Given the description of an element on the screen output the (x, y) to click on. 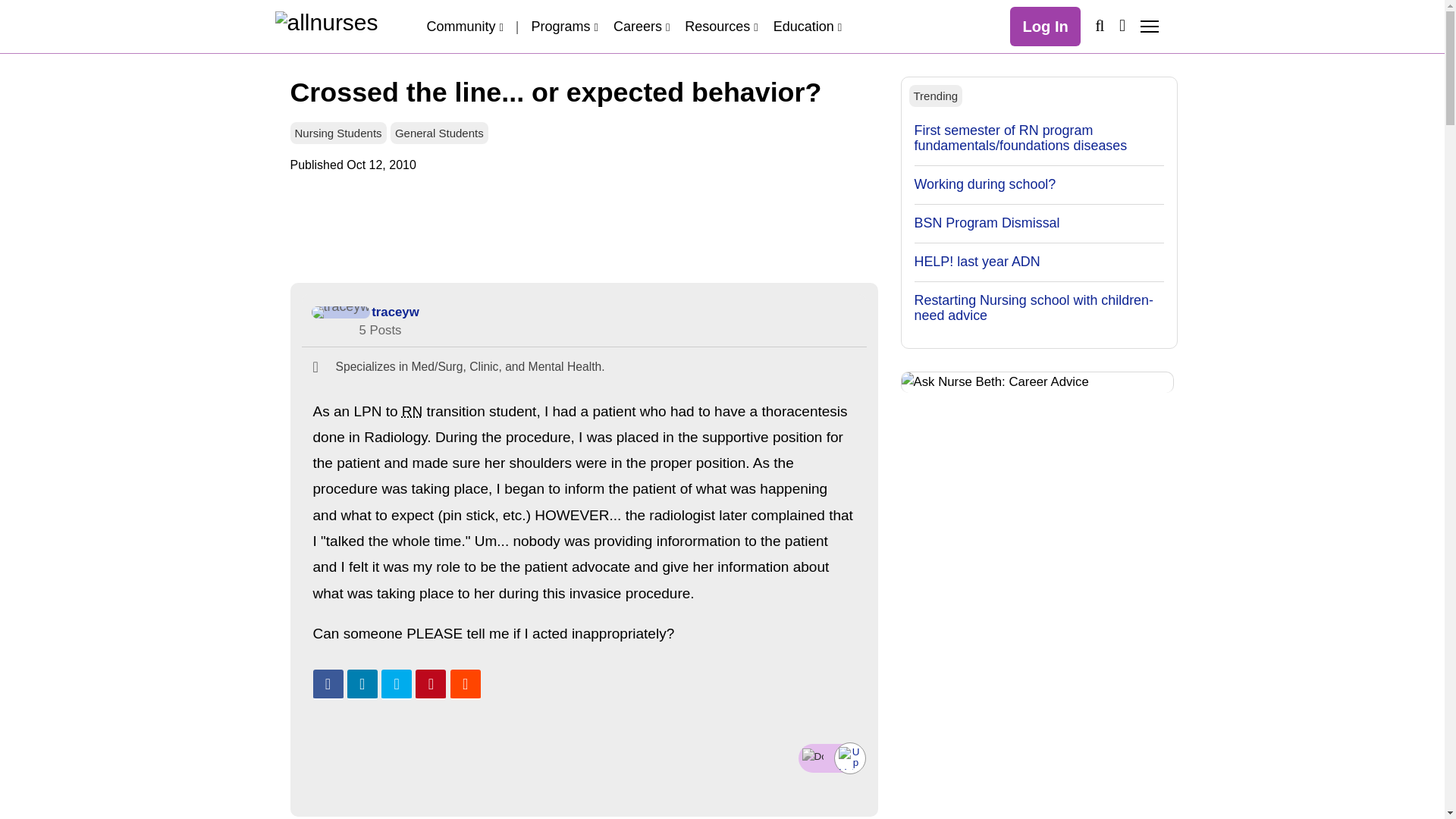
Programs (564, 26)
Share on Twitter (396, 684)
Community (465, 26)
Up Vote (849, 757)
Down Vote (813, 756)
Registered Nurse (411, 411)
Go to traceyw's profile (340, 312)
Share on Reddit (464, 684)
Share on LinkedIn (362, 684)
